Given the description of an element on the screen output the (x, y) to click on. 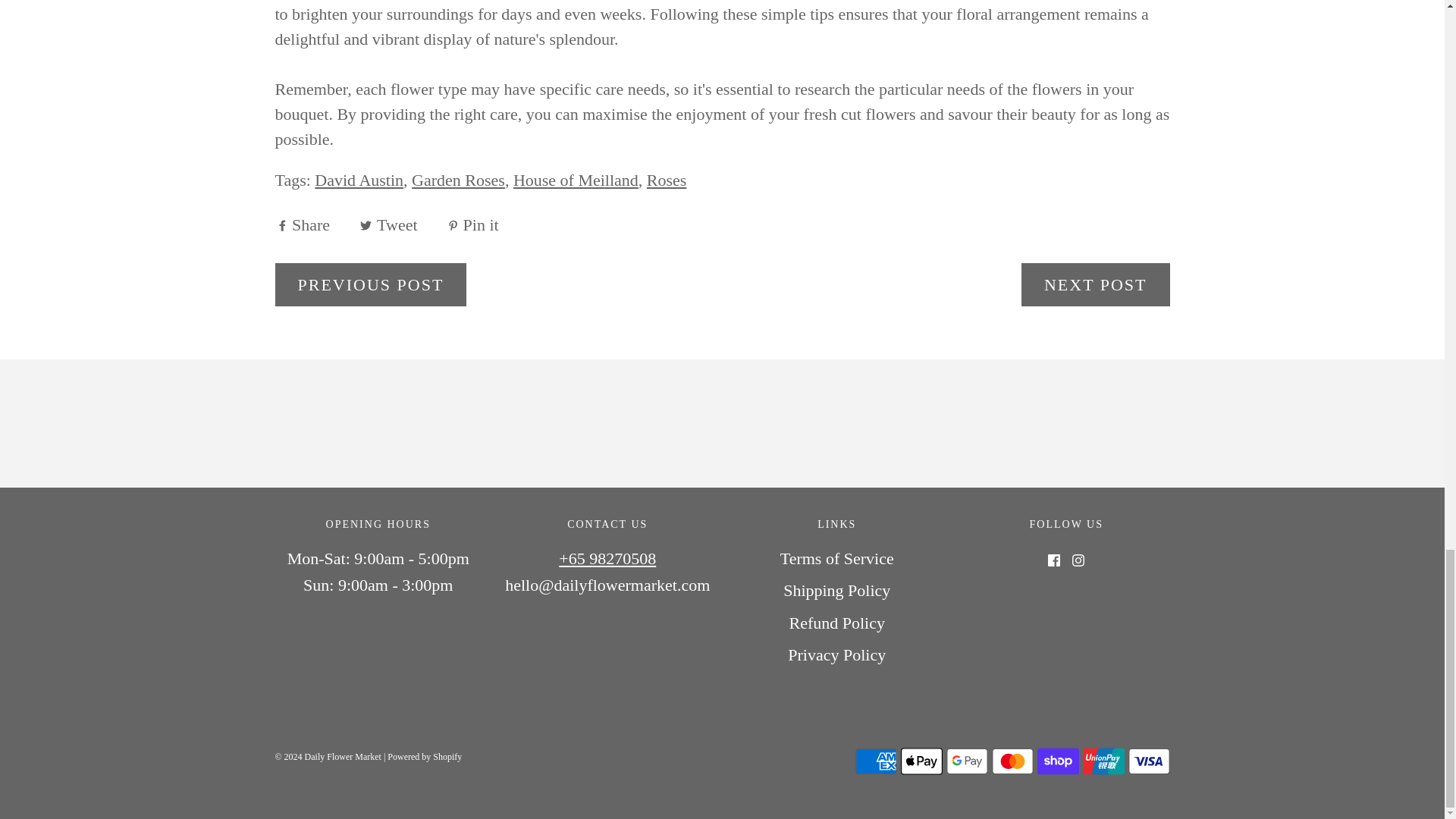
Union Pay (1103, 761)
Mastercard (1012, 761)
Facebook icon (1053, 560)
Google Pay (967, 761)
American Express (876, 761)
Apple Pay (921, 761)
Visa (1149, 761)
Instagram icon (1077, 560)
Shop Pay (1057, 761)
